Given the description of an element on the screen output the (x, y) to click on. 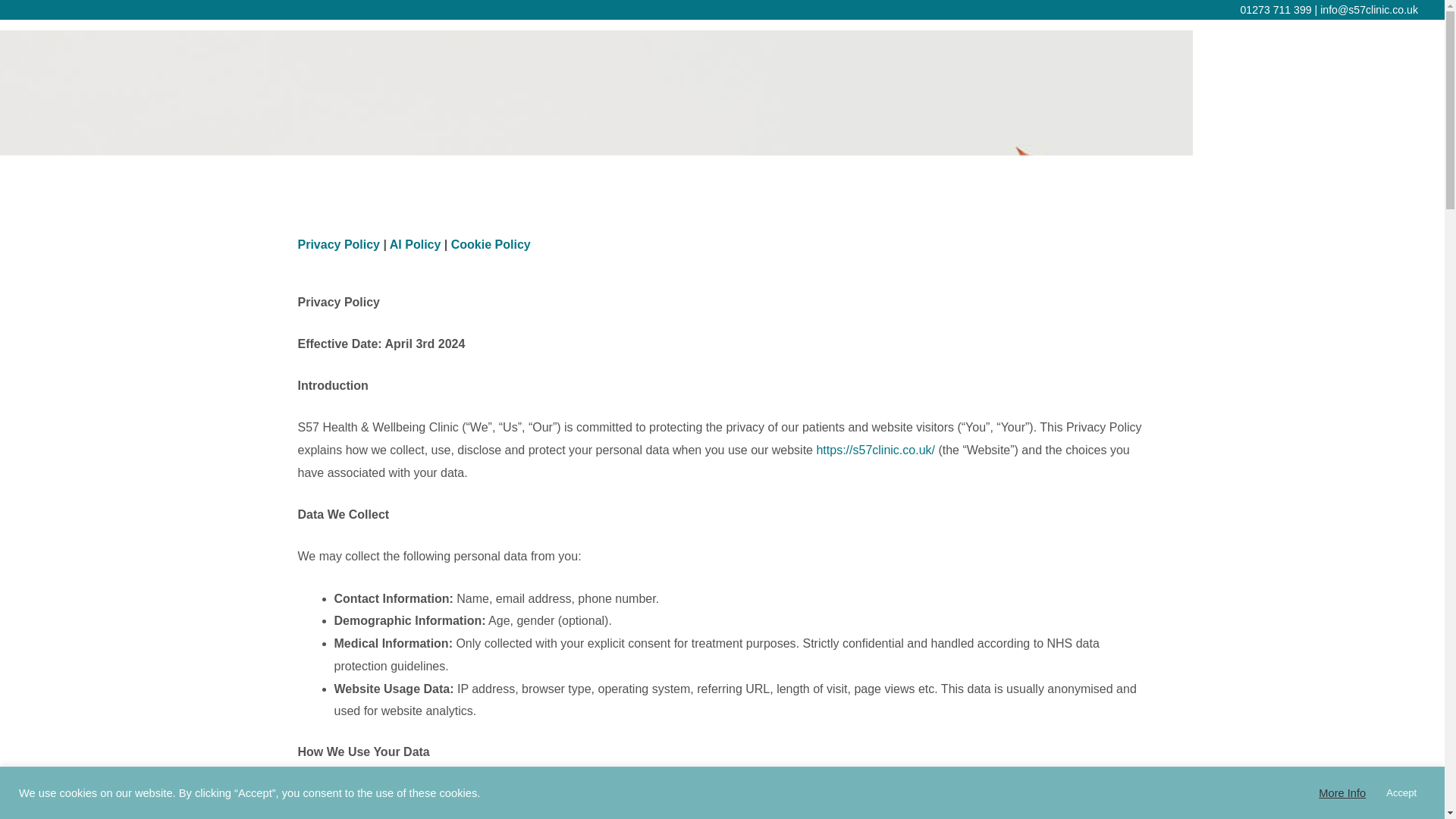
AI Policy (415, 244)
Privacy Policy (338, 244)
Cookie Policy (491, 244)
